Given the description of an element on the screen output the (x, y) to click on. 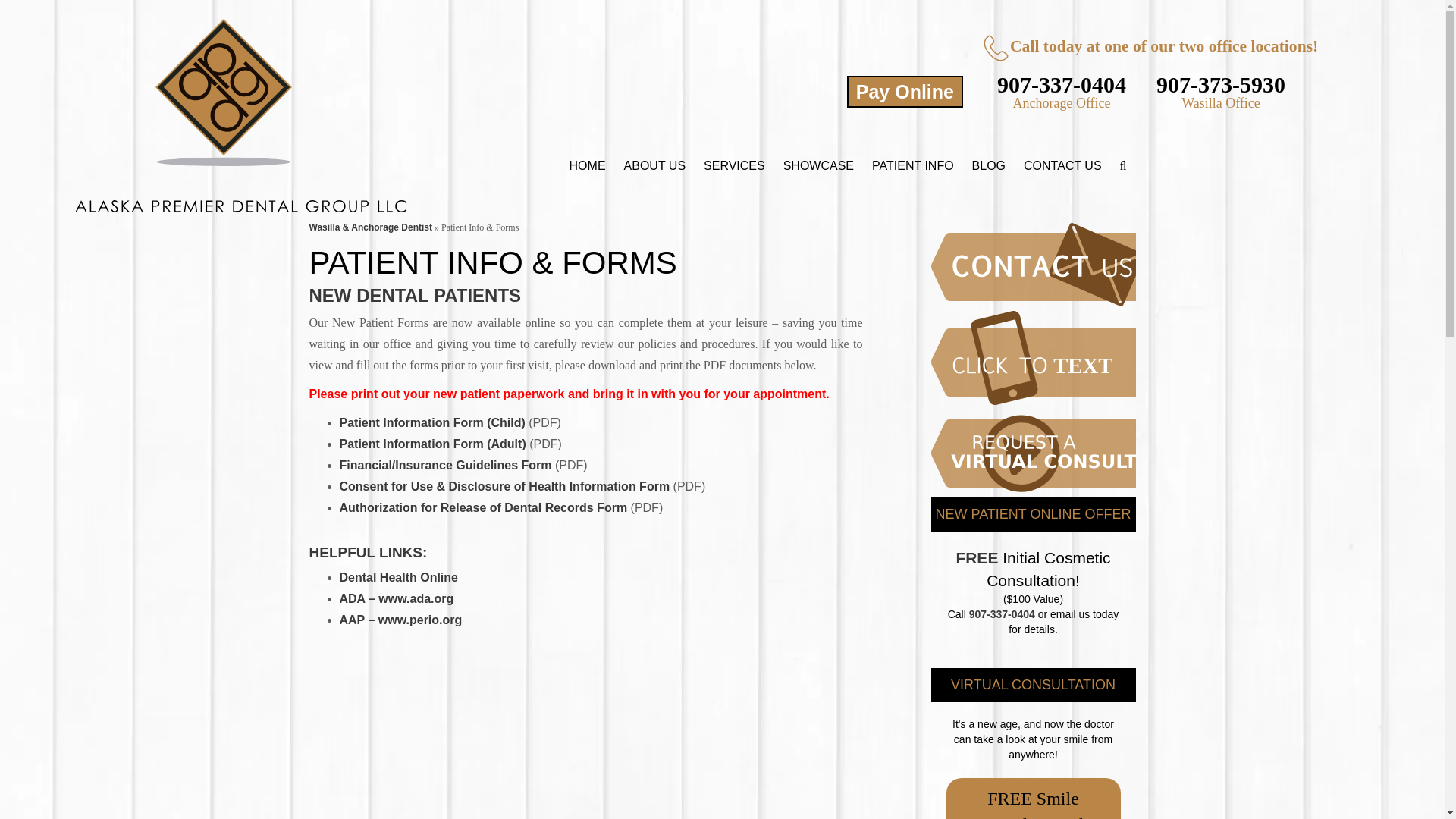
Alaska Premier Dental Group (240, 92)
SERVICES (734, 166)
ABOUT US (654, 166)
907-337-0404 (1061, 84)
Pay Online (904, 91)
TEXT (1060, 357)
907-373-5930 (1220, 84)
HOME (587, 166)
